Given the description of an element on the screen output the (x, y) to click on. 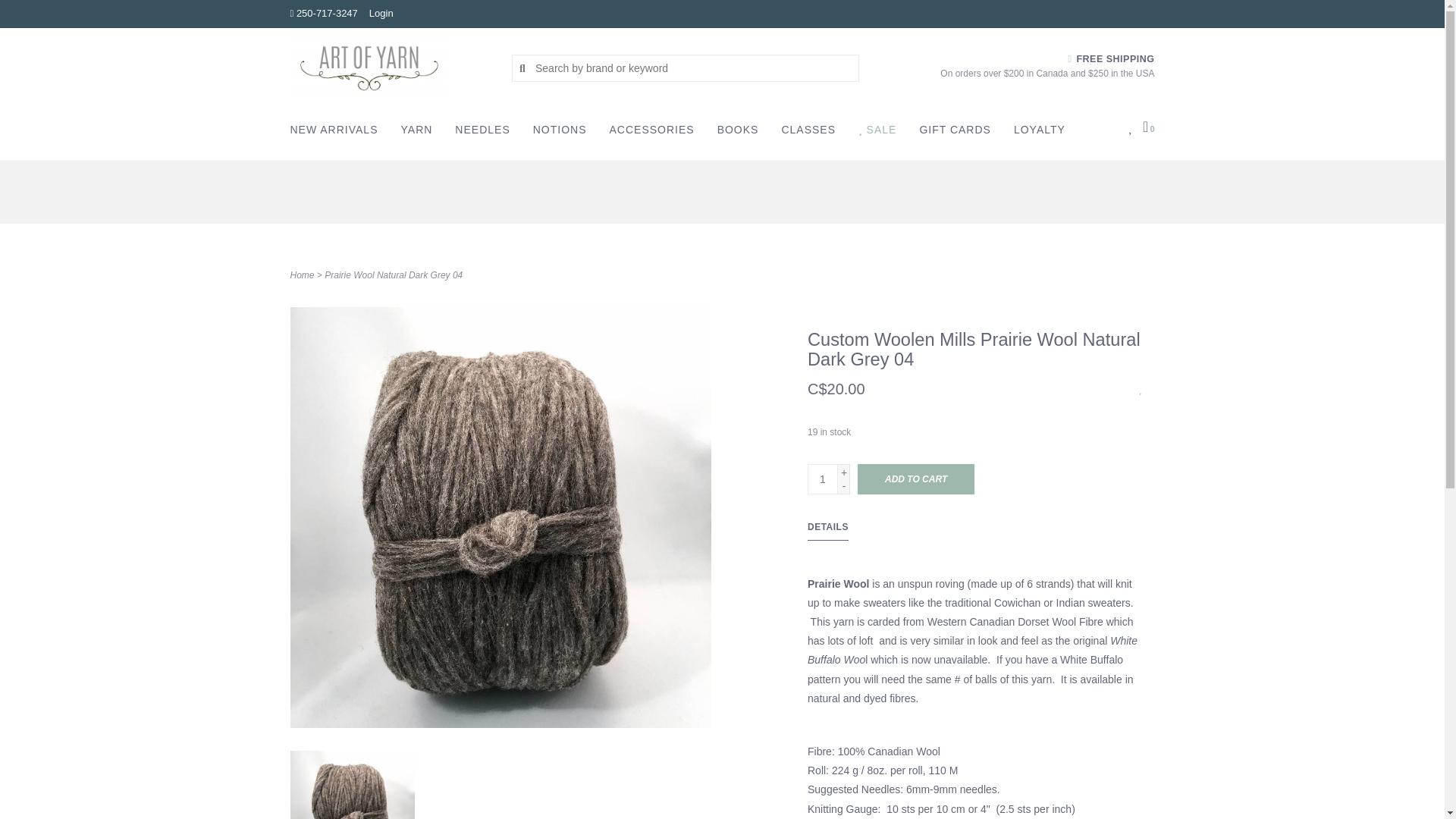
YARN (419, 133)
NEW ARRIVALS (337, 133)
250-717-3247 (322, 12)
Login (381, 12)
1 (823, 479)
My account (381, 12)
Yarn (419, 133)
